Given the description of an element on the screen output the (x, y) to click on. 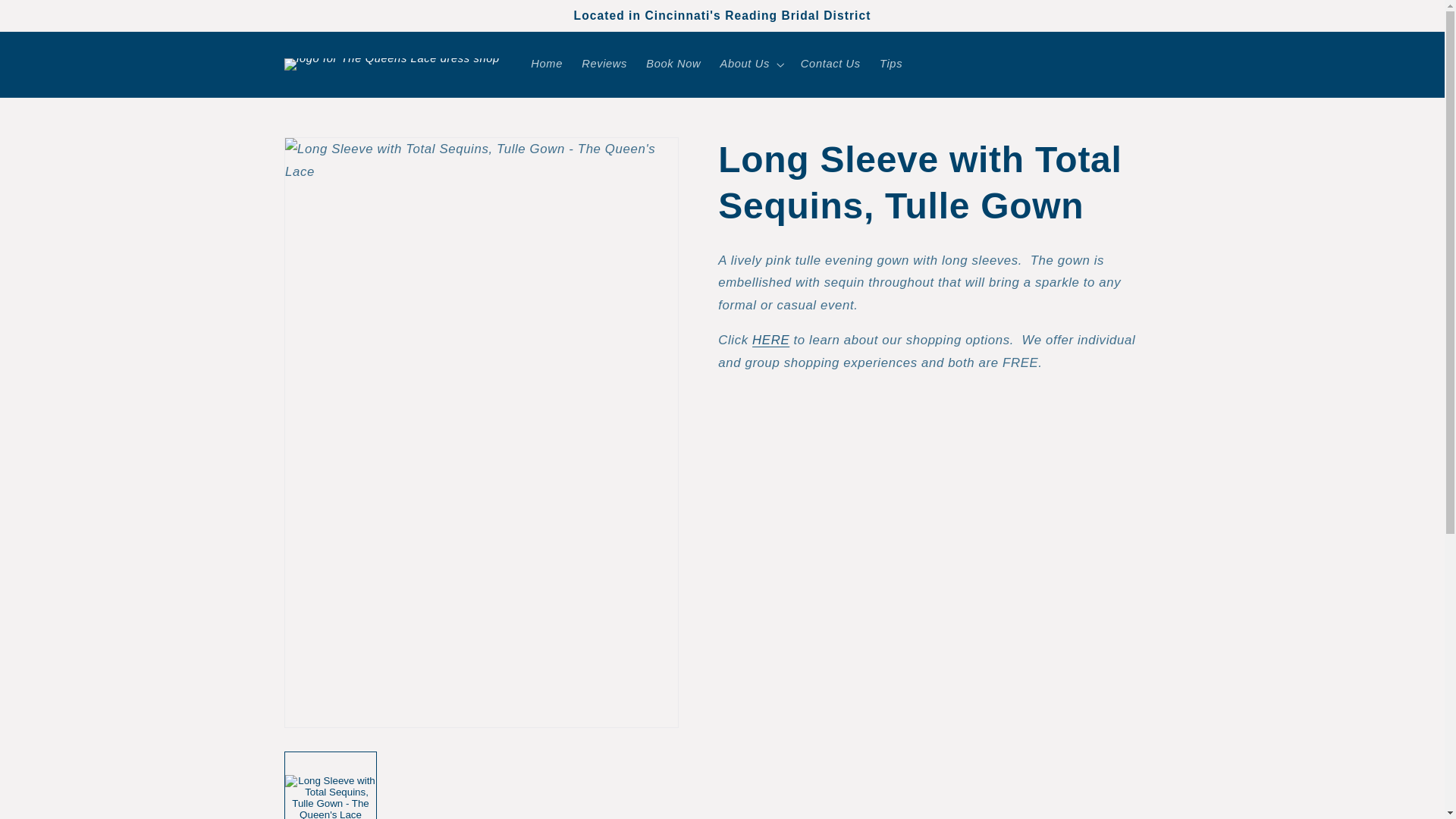
Choose and schedule your Queen's Lace shopping experience (770, 339)
Reviews (604, 64)
Book Now (673, 64)
Tips (890, 64)
HERE (770, 339)
Contact Us (829, 64)
Skip to content (47, 17)
Skip to product information (330, 153)
Home (546, 64)
